Given the description of an element on the screen output the (x, y) to click on. 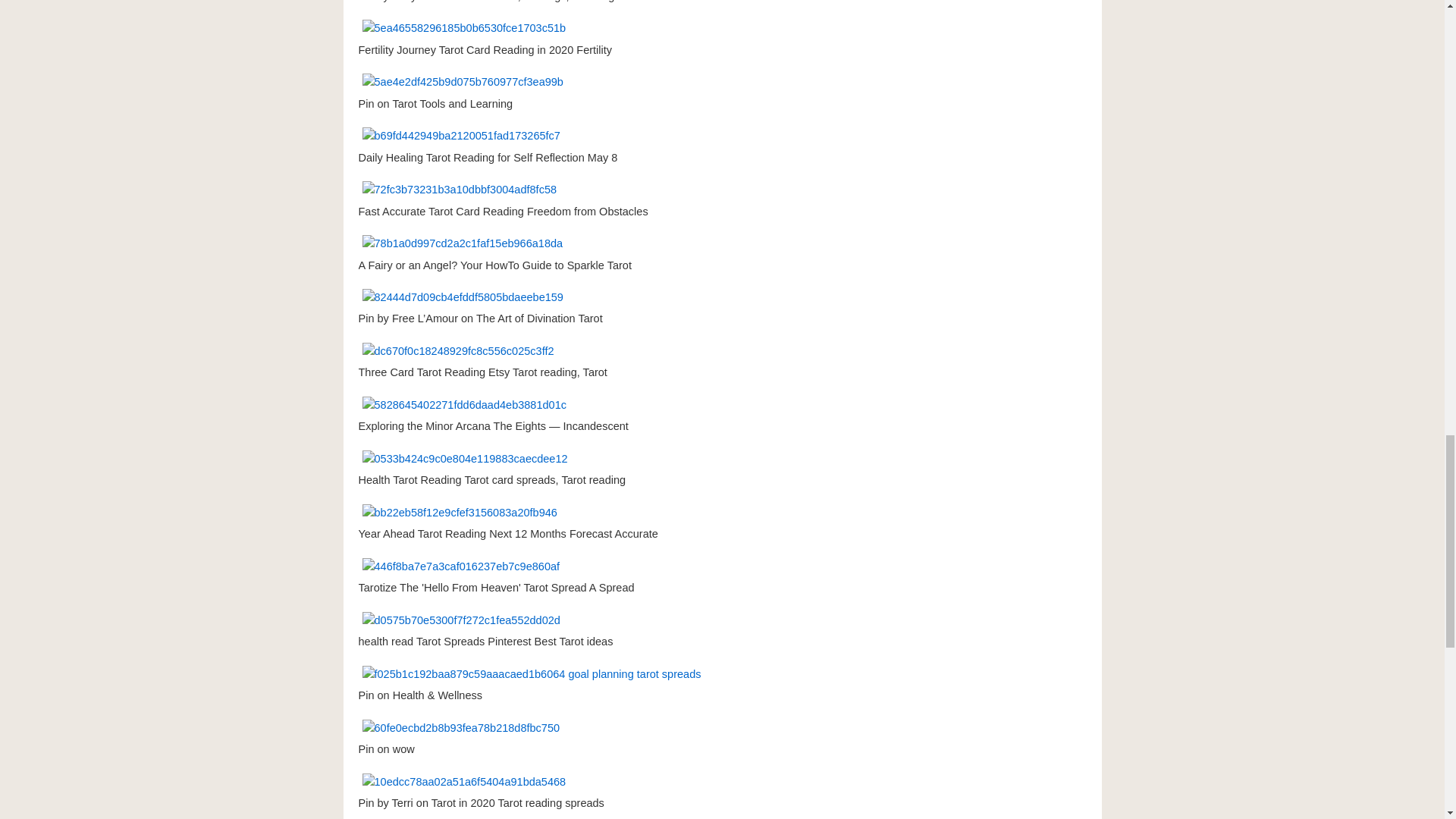
Health Reading Tarot Spread 9 (459, 189)
Health Reading Tarot Spread 6 (463, 27)
Health Reading Tarot Spread 12 (457, 351)
Health Reading Tarot Spread 13 (463, 405)
Health Reading Tarot Spread 10 (462, 243)
Health Reading Tarot Spread 11 (462, 297)
Health Reading Tarot Spread 7 (462, 82)
Health Reading Tarot Spread 8 (460, 135)
